Given the description of an element on the screen output the (x, y) to click on. 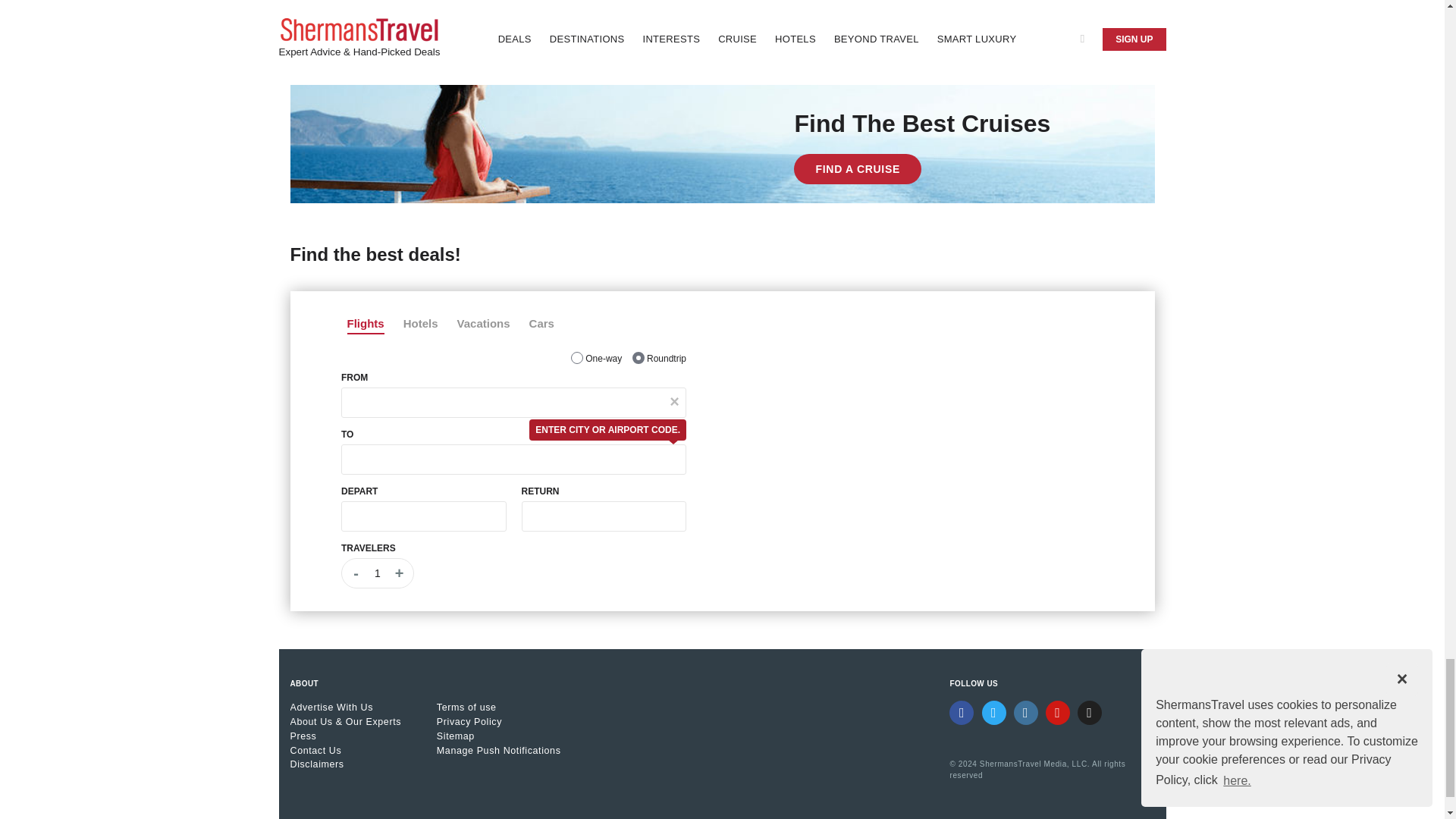
2 (638, 357)
1 (576, 357)
